Given the description of an element on the screen output the (x, y) to click on. 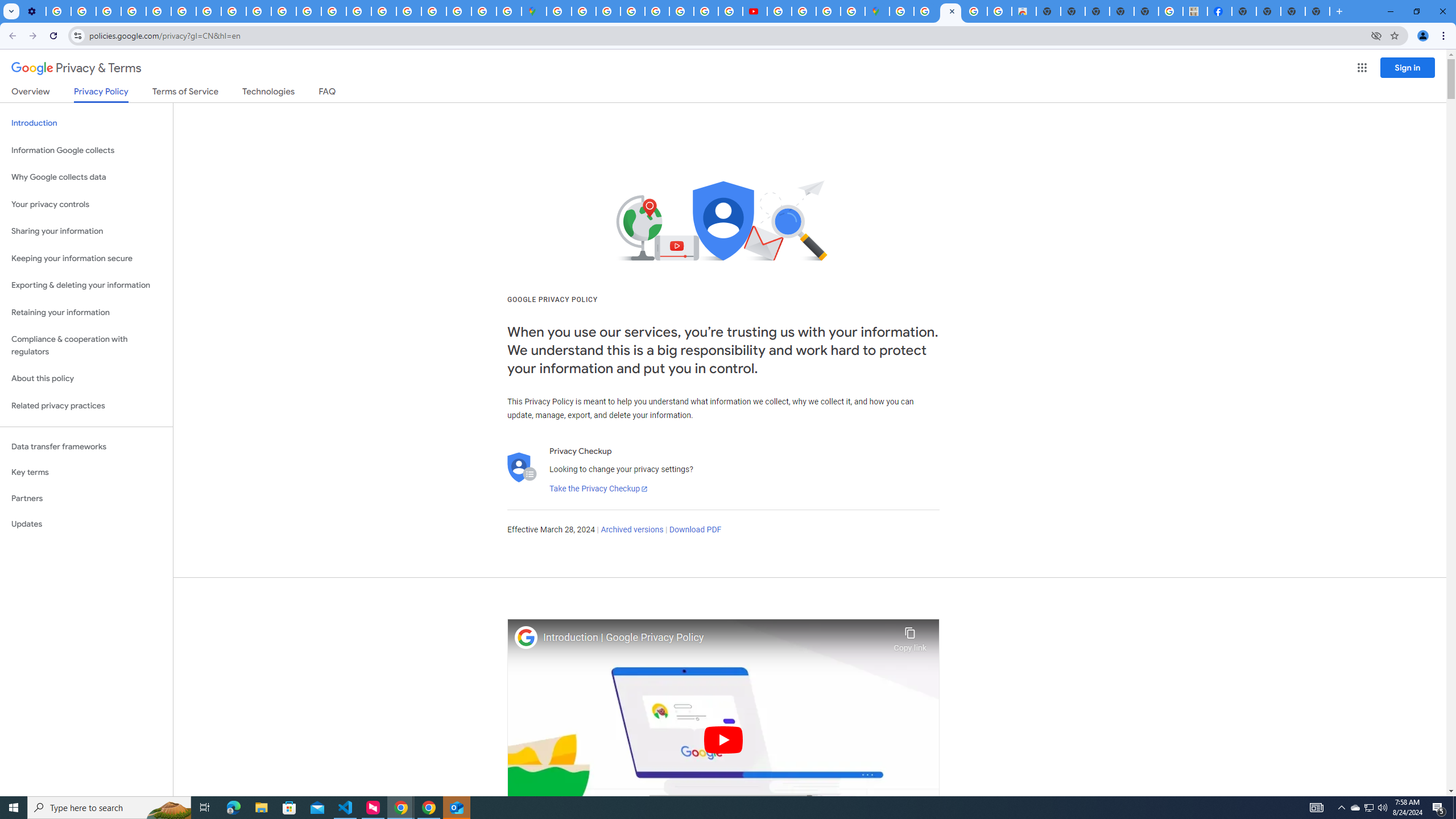
https://scholar.google.com/ (308, 11)
Google Maps (876, 11)
Sign in - Google Accounts (558, 11)
Privacy Help Center - Policies Help (158, 11)
Delete photos & videos - Computer - Google Photos Help (57, 11)
